Given the description of an element on the screen output the (x, y) to click on. 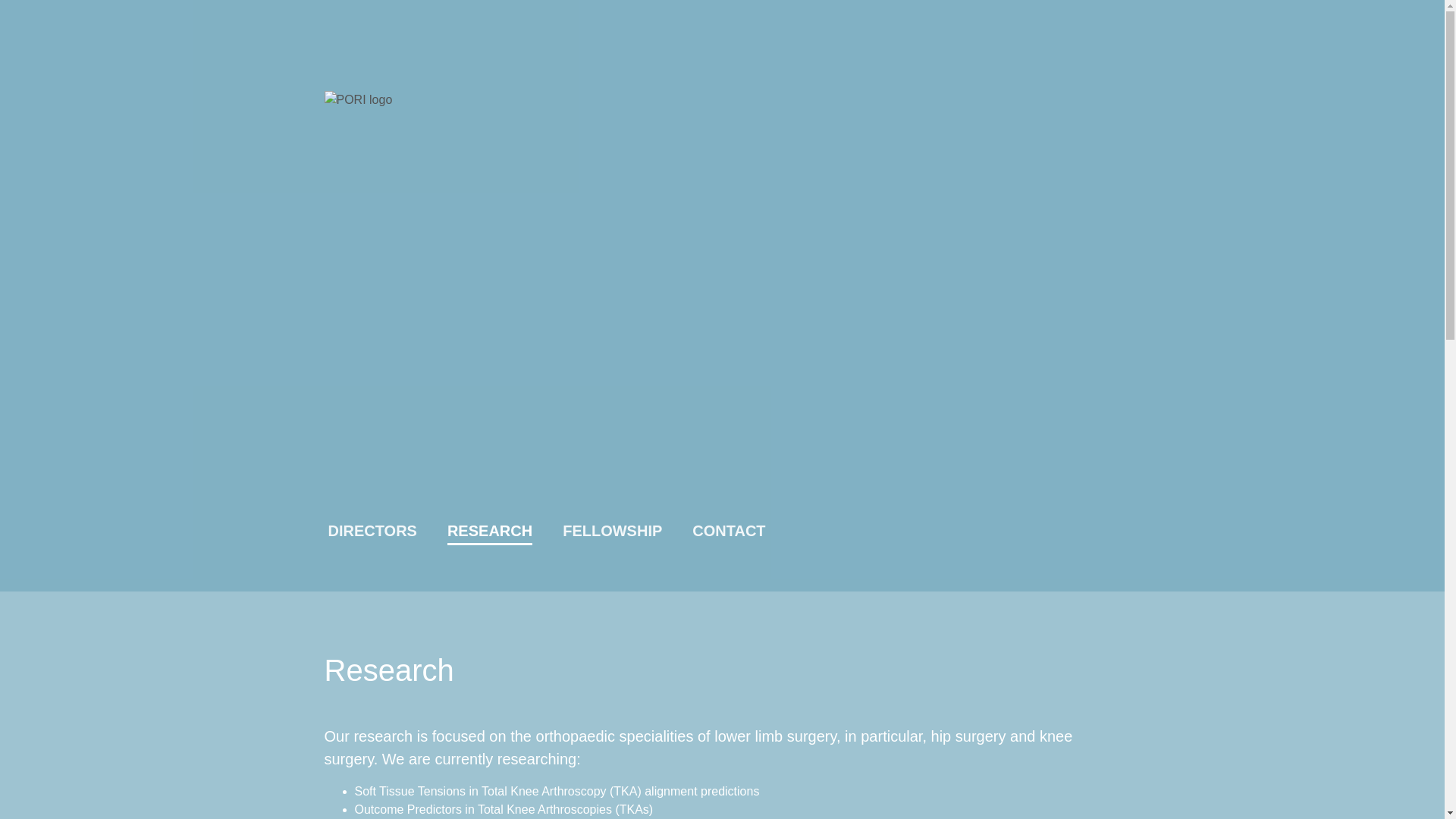
Home Element type: hover (722, 280)
FELLOWSHIP Element type: text (612, 530)
RESEARCH Element type: text (489, 533)
CONTACT Element type: text (728, 530)
DIRECTORS Element type: text (371, 530)
